Given the description of an element on the screen output the (x, y) to click on. 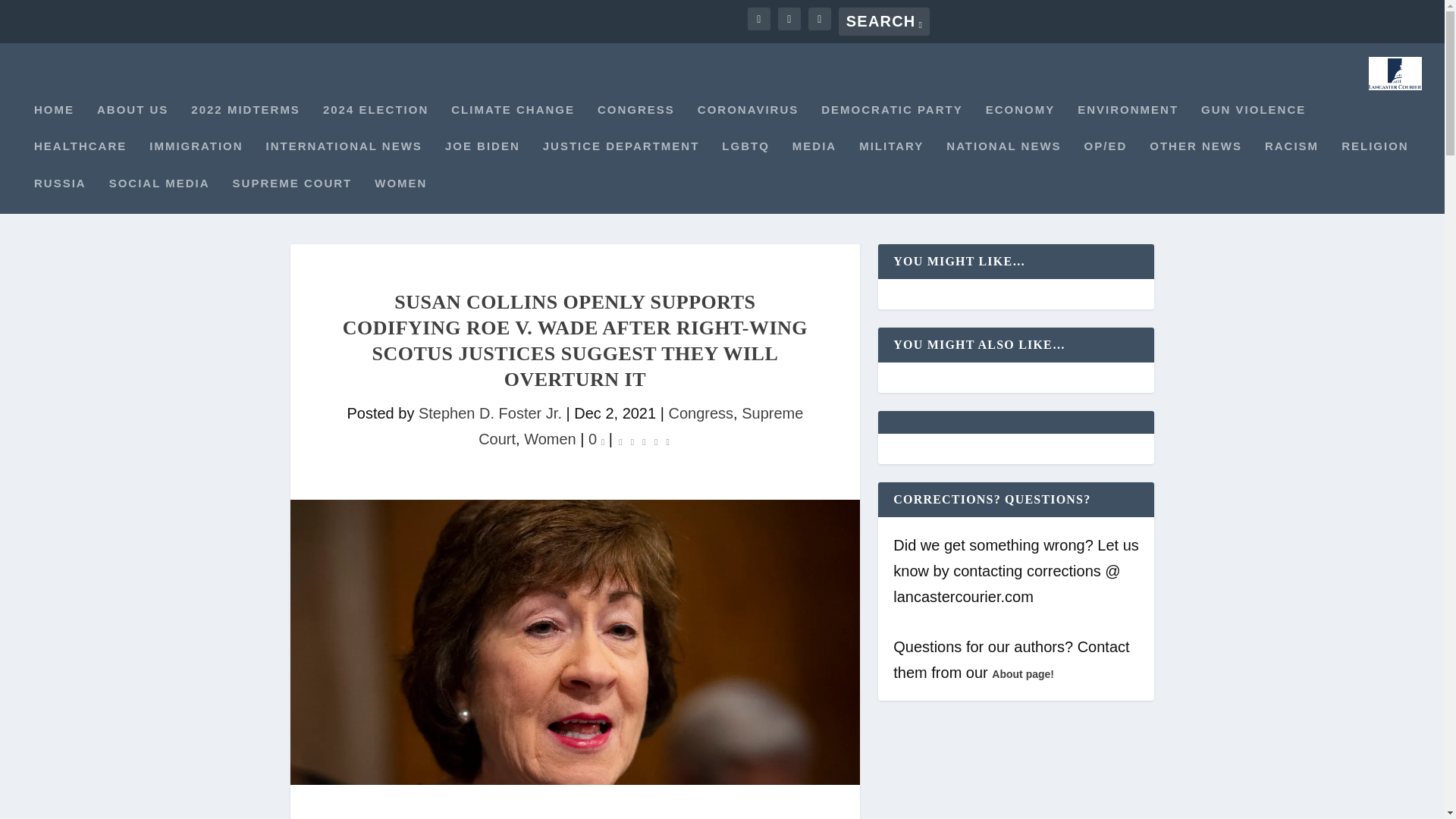
CONGRESS (635, 122)
NATIONAL NEWS (1003, 158)
RUSSIA (59, 195)
JUSTICE DEPARTMENT (621, 158)
HOME (53, 122)
HEALTHCARE (79, 158)
INTERNATIONAL NEWS (344, 158)
ECONOMY (1020, 122)
RACISM (1292, 158)
Search for: (884, 21)
